Given the description of an element on the screen output the (x, y) to click on. 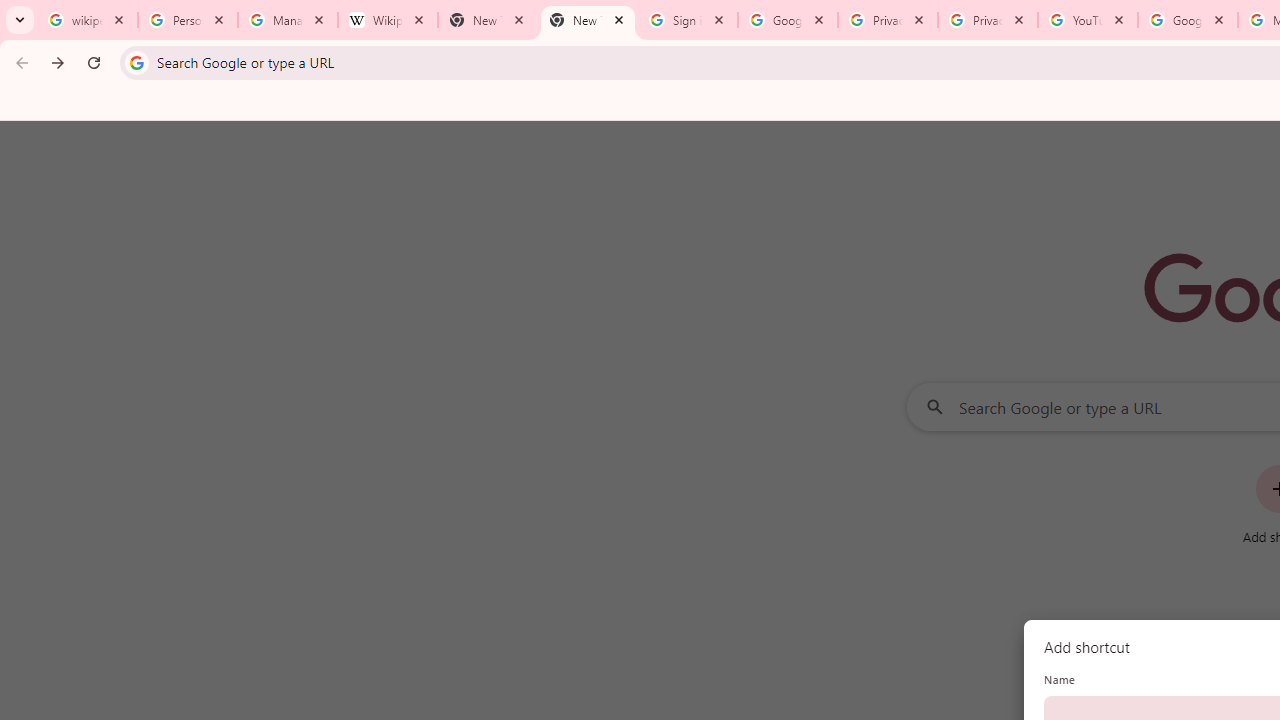
New Tab (487, 20)
Personalization & Google Search results - Google Search Help (188, 20)
Google Drive: Sign-in (788, 20)
Manage your Location History - Google Search Help (287, 20)
New Tab (587, 20)
Google Account Help (1187, 20)
Sign in - Google Accounts (687, 20)
